Given the description of an element on the screen output the (x, y) to click on. 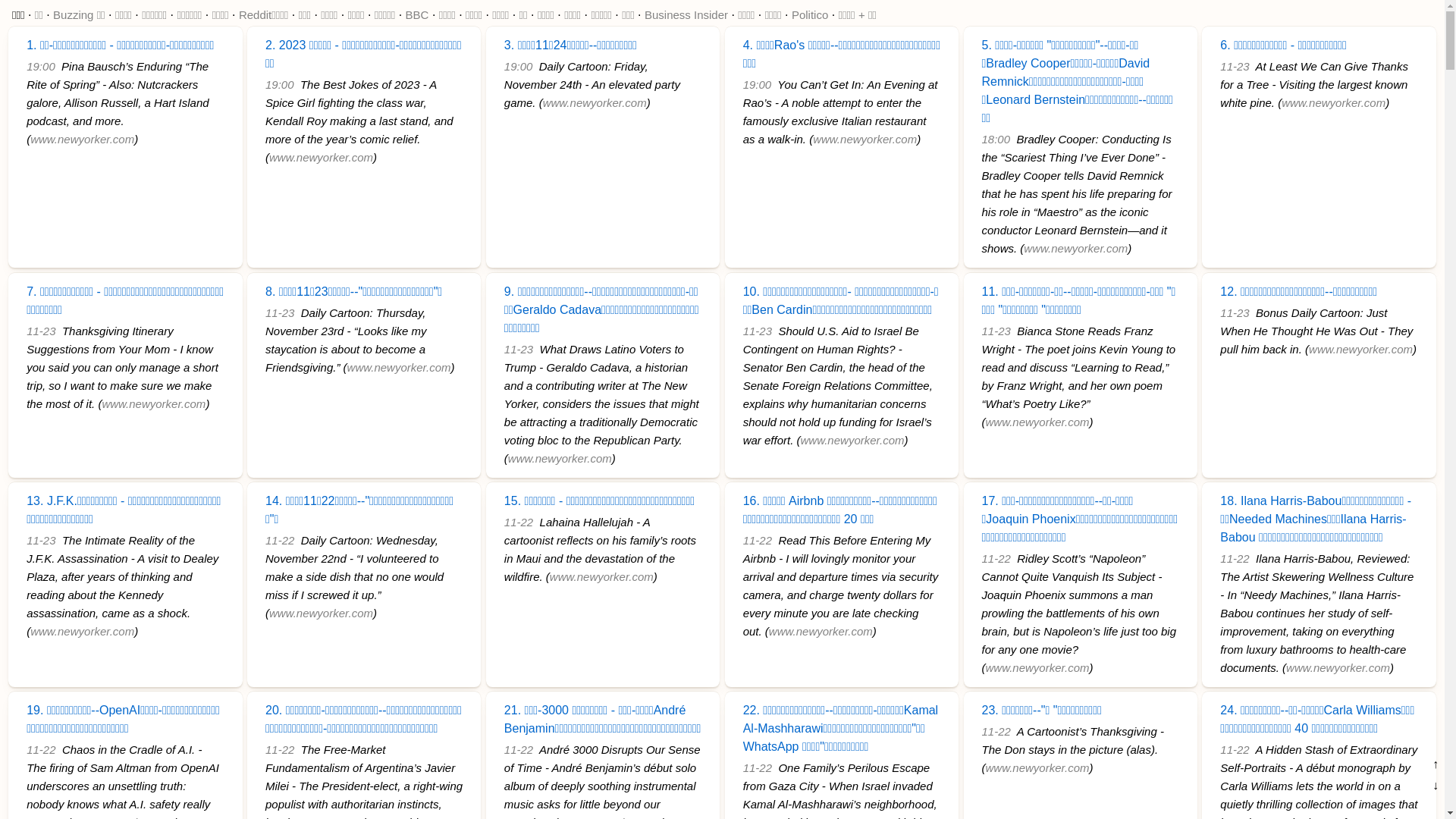
www.newyorker.com Element type: text (1075, 247)
BBC Element type: text (417, 14)
11-23 Element type: text (518, 348)
www.newyorker.com Element type: text (153, 403)
11-22 Element type: text (995, 730)
11-23 Element type: text (1234, 312)
www.newyorker.com Element type: text (1360, 348)
11-22 Element type: text (279, 749)
19:00 Element type: text (757, 84)
www.newyorker.com Element type: text (1037, 767)
www.newyorker.com Element type: text (601, 576)
www.newyorker.com Element type: text (1037, 667)
11-23 Element type: text (1234, 65)
11-23 Element type: text (40, 330)
www.newyorker.com Element type: text (82, 630)
19:00 Element type: text (279, 84)
11-22 Element type: text (1234, 749)
11-22 Element type: text (757, 767)
www.newyorker.com Element type: text (852, 439)
www.newyorker.com Element type: text (399, 366)
11-22 Element type: text (40, 749)
11-23 Element type: text (757, 330)
www.newyorker.com Element type: text (1333, 102)
www.newyorker.com Element type: text (321, 612)
11-22 Element type: text (1234, 558)
www.newyorker.com Element type: text (594, 102)
11-23 Element type: text (995, 330)
11-23 Element type: text (279, 312)
18:00 Element type: text (995, 138)
www.newyorker.com Element type: text (321, 156)
11-22 Element type: text (518, 749)
Business Insider Element type: text (686, 14)
www.newyorker.com Element type: text (864, 138)
11-23 Element type: text (40, 539)
www.newyorker.com Element type: text (82, 138)
11-22 Element type: text (518, 521)
www.newyorker.com Element type: text (1037, 421)
www.newyorker.com Element type: text (1338, 667)
19:00 Element type: text (518, 65)
www.newyorker.com Element type: text (559, 457)
Politico Element type: text (809, 14)
11-22 Element type: text (757, 539)
11-22 Element type: text (995, 558)
19:00 Element type: text (40, 65)
11-22 Element type: text (279, 539)
www.newyorker.com Element type: text (820, 630)
